Given the description of an element on the screen output the (x, y) to click on. 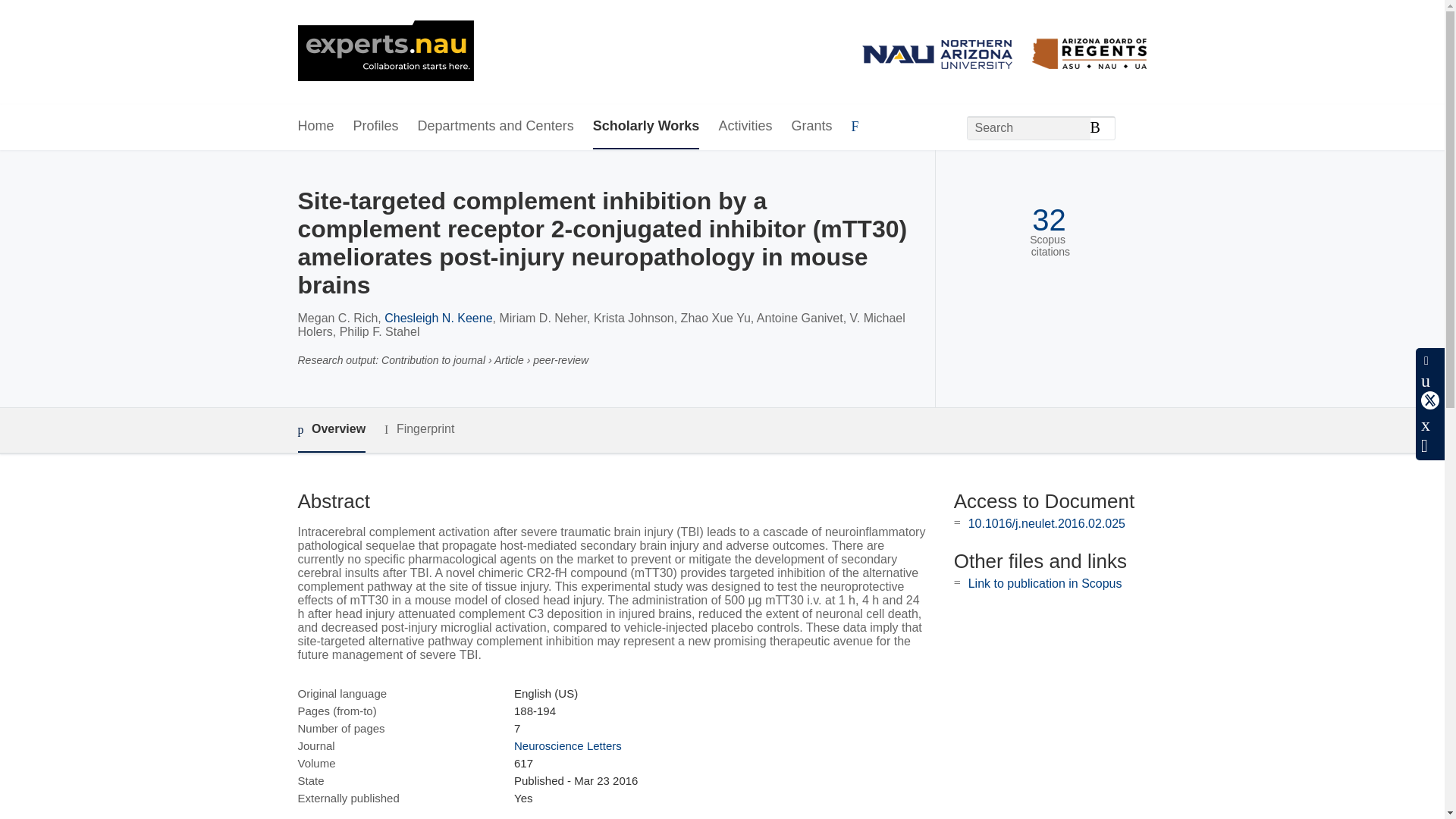
Fingerprint (419, 429)
Chesleigh N. Keene (438, 318)
Profiles (375, 126)
32 (1048, 220)
Departments and Centers (495, 126)
Overview (331, 429)
Northern Arizona University Home (385, 52)
Activities (744, 126)
Scholarly Works (646, 126)
